Given the description of an element on the screen output the (x, y) to click on. 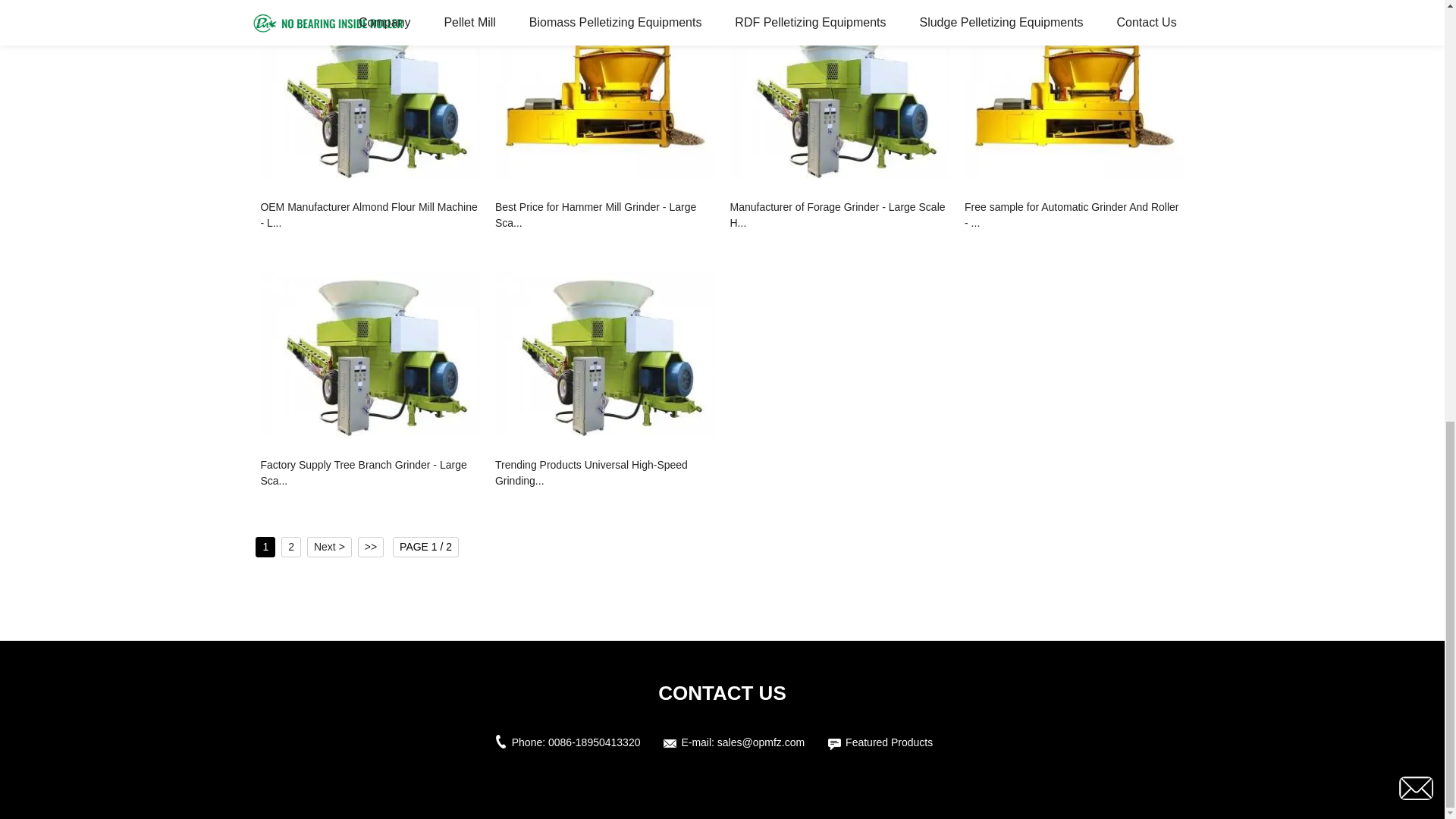
The Last Page (371, 547)
